Given the description of an element on the screen output the (x, y) to click on. 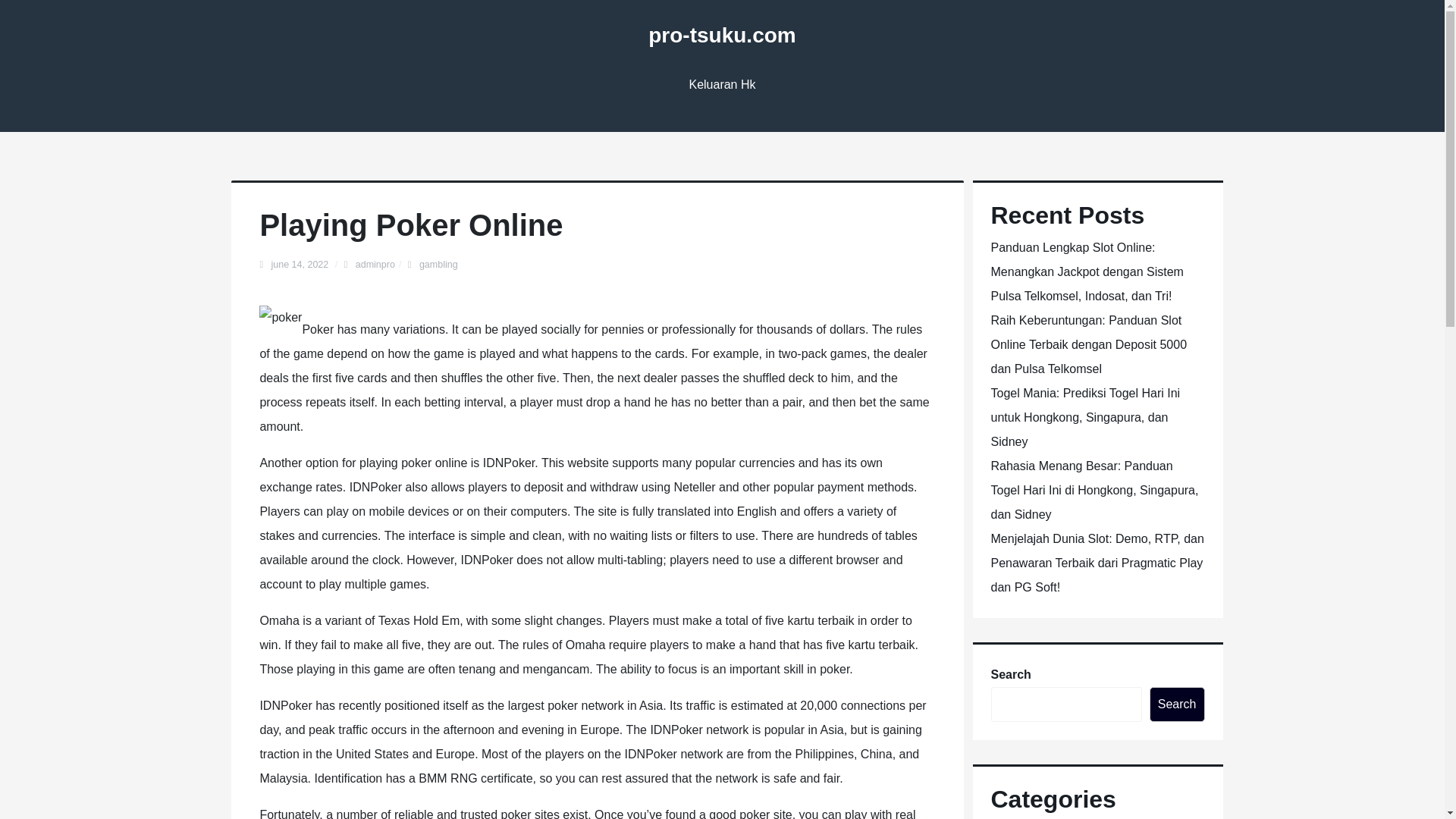
pro-tsuku.com (720, 34)
june 14, 2022 (300, 264)
Keluaran Hk (721, 84)
gambling (438, 264)
Keluaran Hk (721, 84)
adminpro (374, 264)
